Given the description of an element on the screen output the (x, y) to click on. 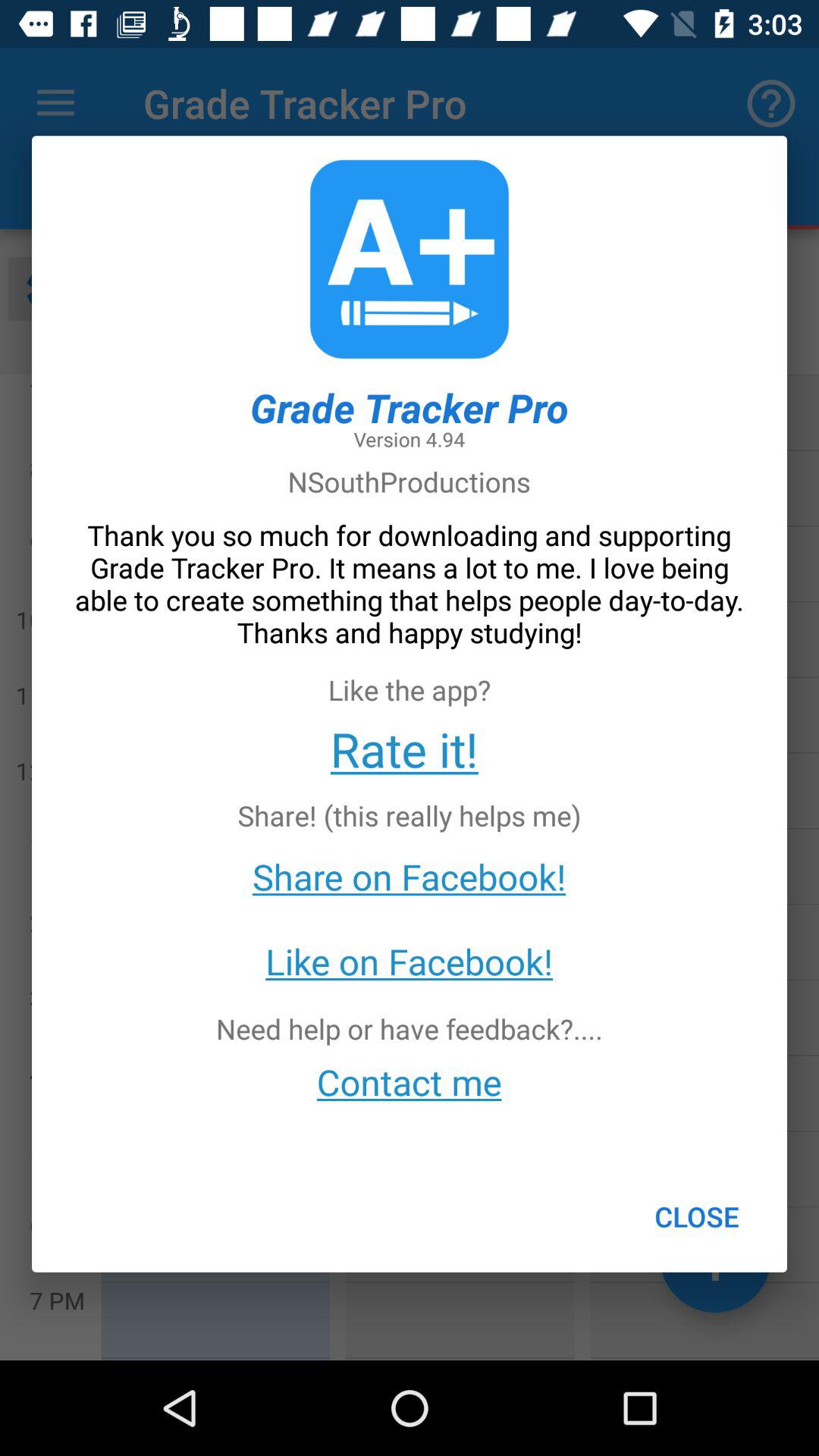
choose the icon below thank you so (403, 748)
